Given the description of an element on the screen output the (x, y) to click on. 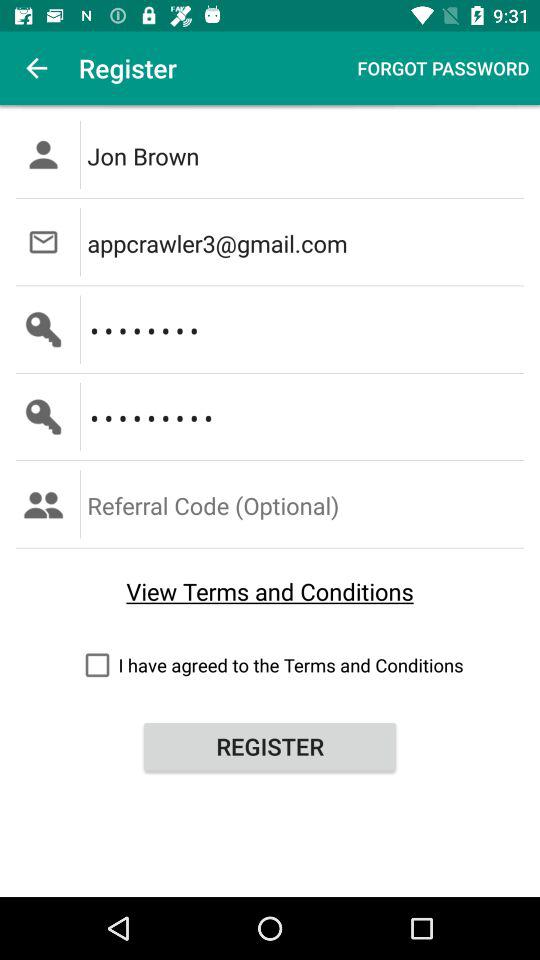
turn on the forgot password (443, 67)
